Given the description of an element on the screen output the (x, y) to click on. 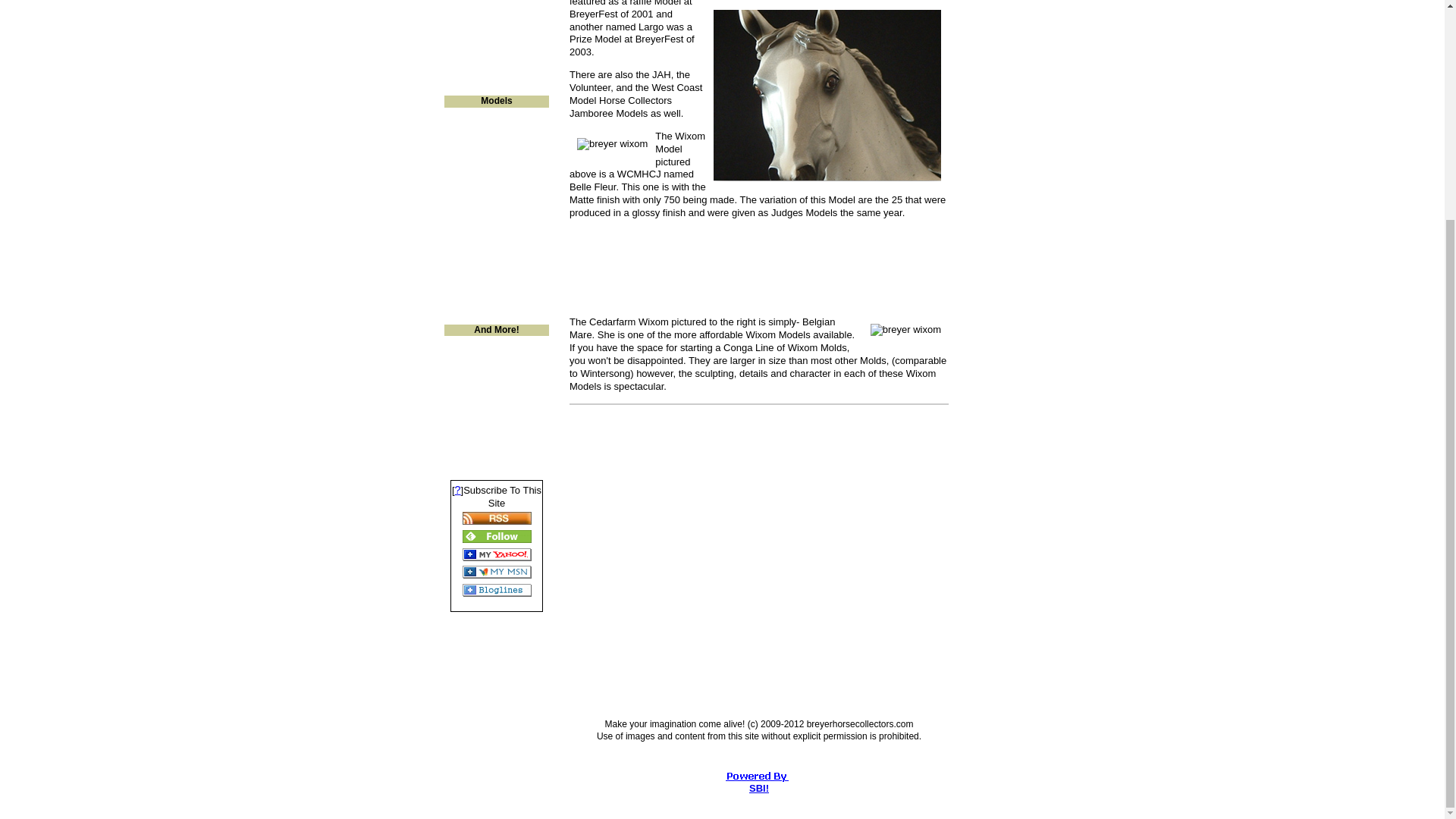
Buying (496, 46)
Mustangs (496, 157)
Indian Pony (496, 117)
Gallery (496, 384)
Arabian (496, 216)
Helpful Websites (496, 66)
Selling (496, 8)
The Friesians (496, 137)
Selling - eBay (496, 26)
SBI! (758, 787)
